Given the description of an element on the screen output the (x, y) to click on. 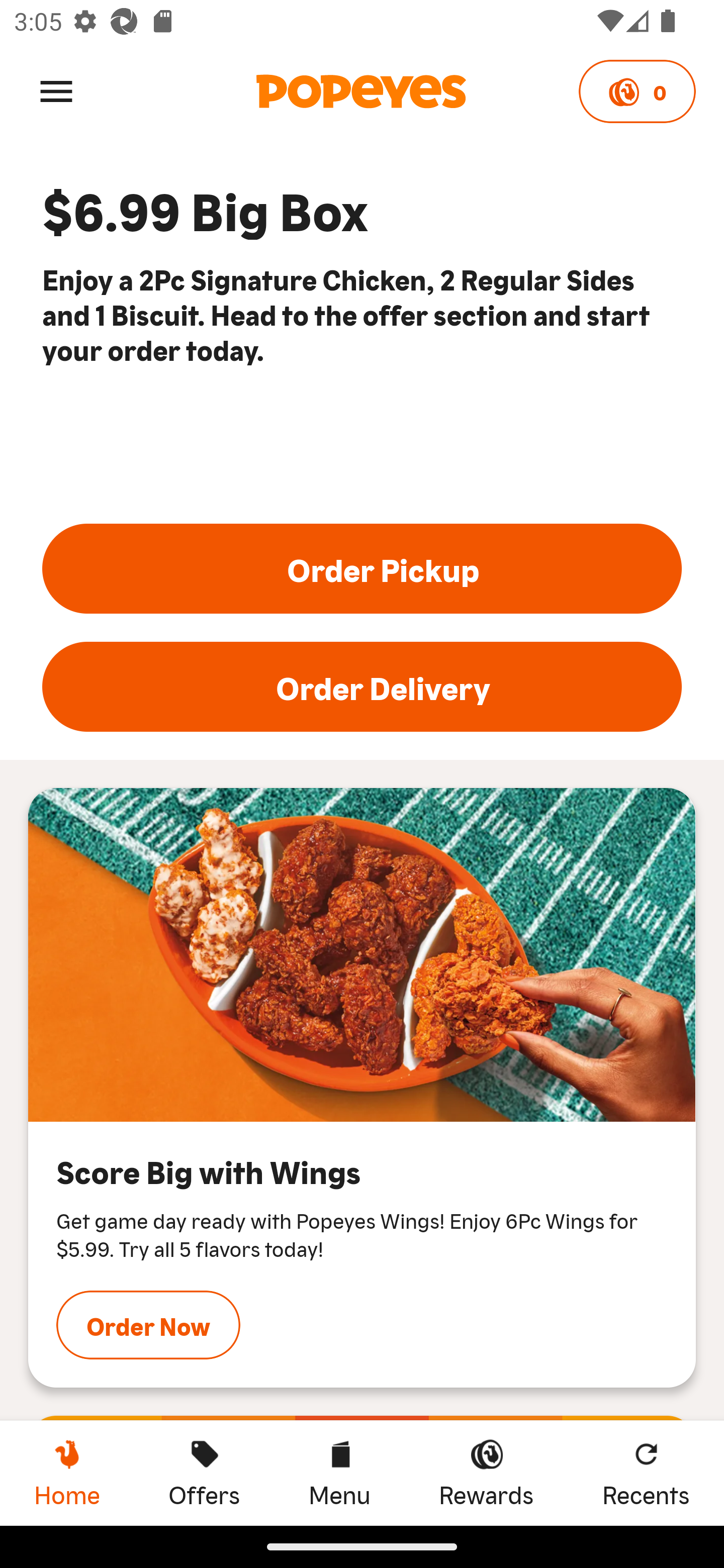
Menu  (56, 90)
0 Points 0 (636, 91)
Order Pickup (361, 568)
Order Delivery (361, 686)
Score Big with Wings (361, 954)
Order Now (148, 1324)
Home, current page Home Home, current page (66, 1472)
Offers Offers Offers (203, 1472)
Menu Menu Menu (339, 1472)
Rewards Rewards Rewards (486, 1472)
Recents Recents Recents (646, 1472)
